Given the description of an element on the screen output the (x, y) to click on. 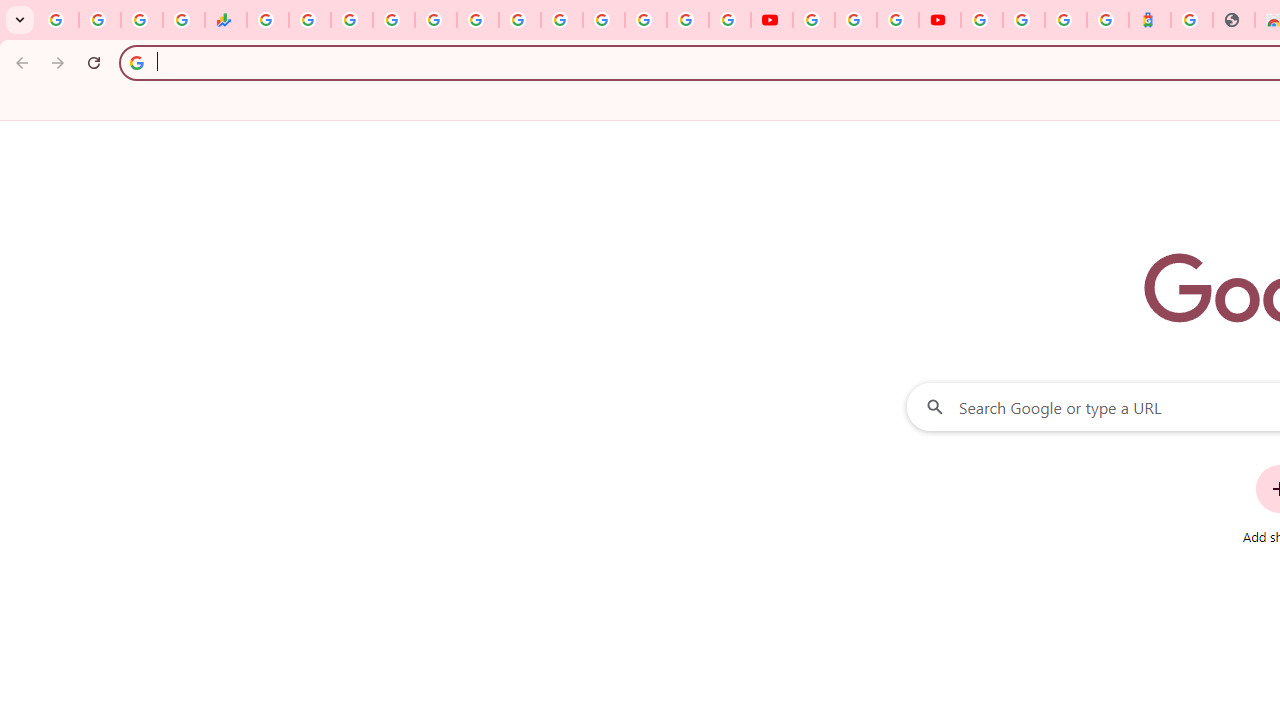
Content Creator Programs & Opportunities - YouTube Creators (940, 20)
